Given the description of an element on the screen output the (x, y) to click on. 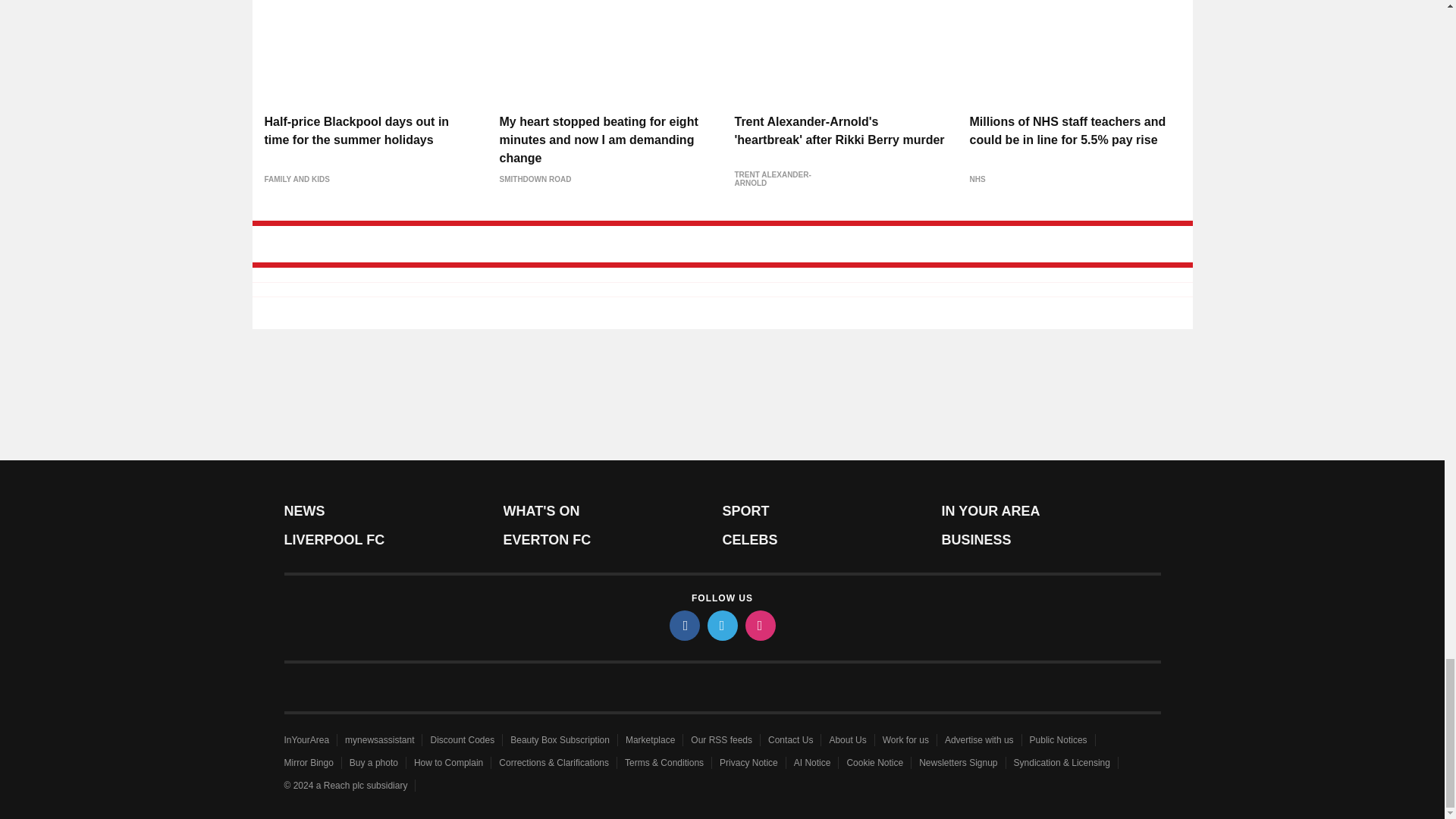
twitter (721, 625)
instagram (759, 625)
facebook (683, 625)
